Given the description of an element on the screen output the (x, y) to click on. 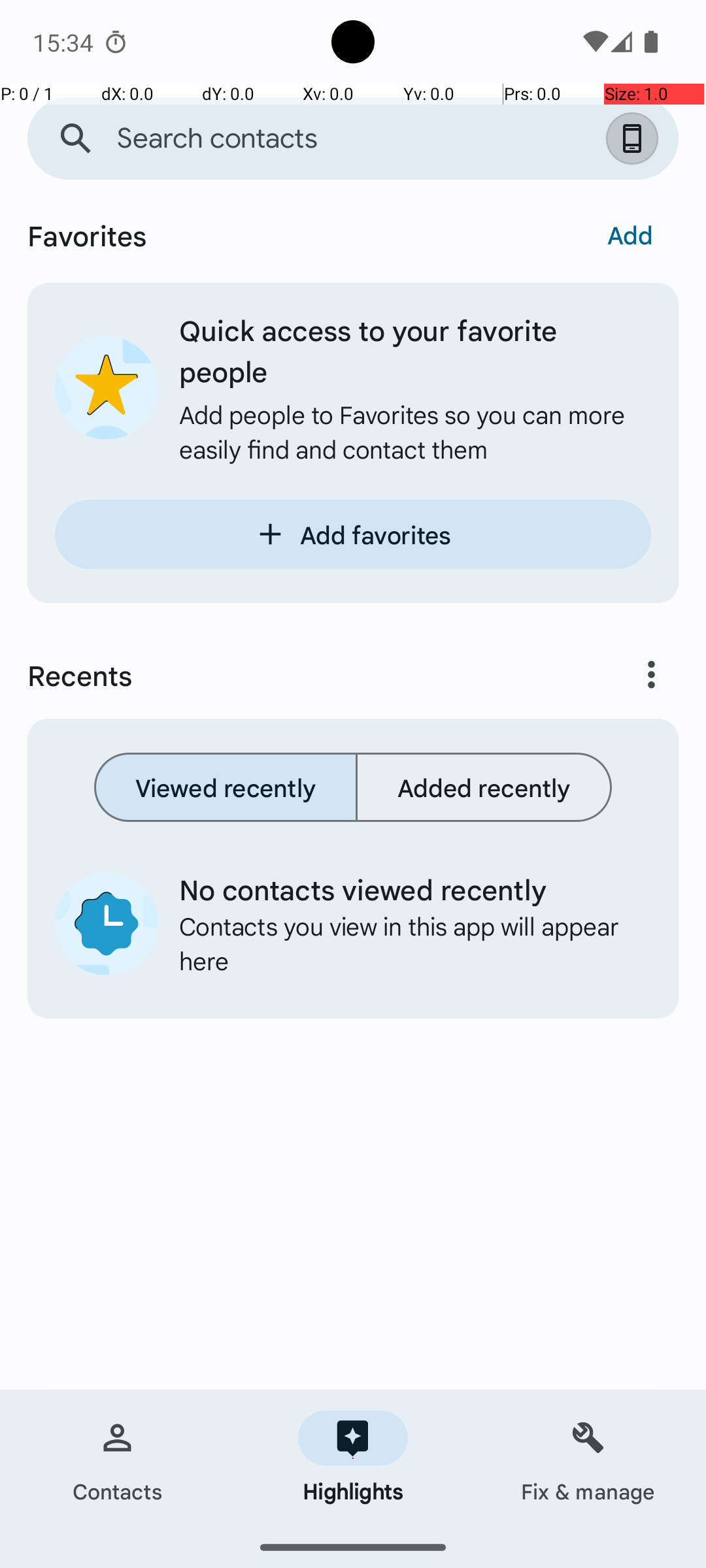
Quick access to your favorite people Element type: android.widget.TextView (415, 350)
Add people to Favorites so you can more easily find and contact them Element type: android.widget.TextView (415, 431)
Add favorites Element type: android.widget.Button (352, 534)
No contacts viewed recently Element type: android.widget.TextView (404, 888)
Contacts you view in this app will appear here Element type: android.widget.TextView (404, 942)
Viewed recently Element type: android.widget.CompoundButton (225, 787)
Added recently Element type: android.widget.CompoundButton (483, 787)
